Given the description of an element on the screen output the (x, y) to click on. 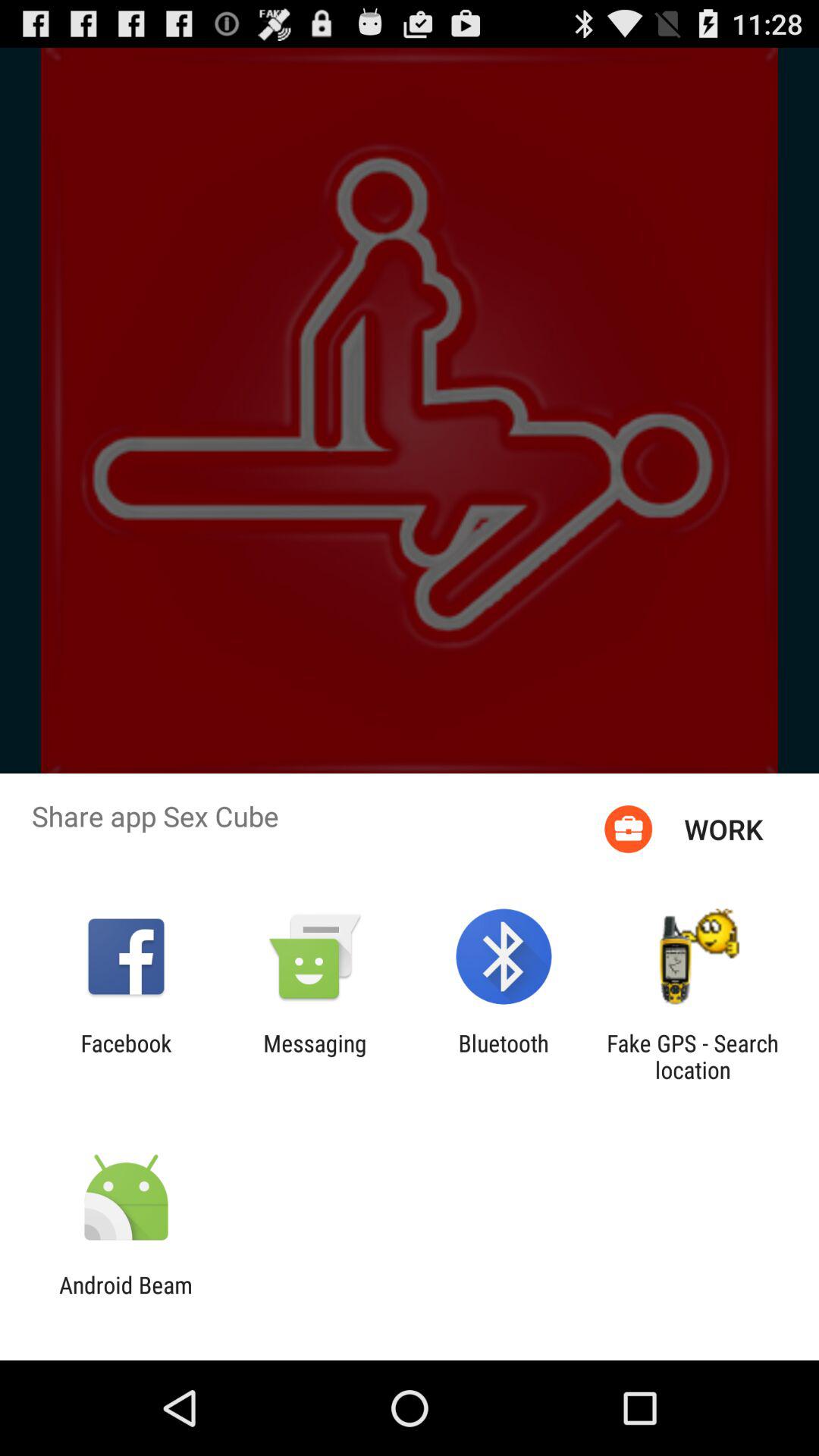
press item next to fake gps search (503, 1056)
